Given the description of an element on the screen output the (x, y) to click on. 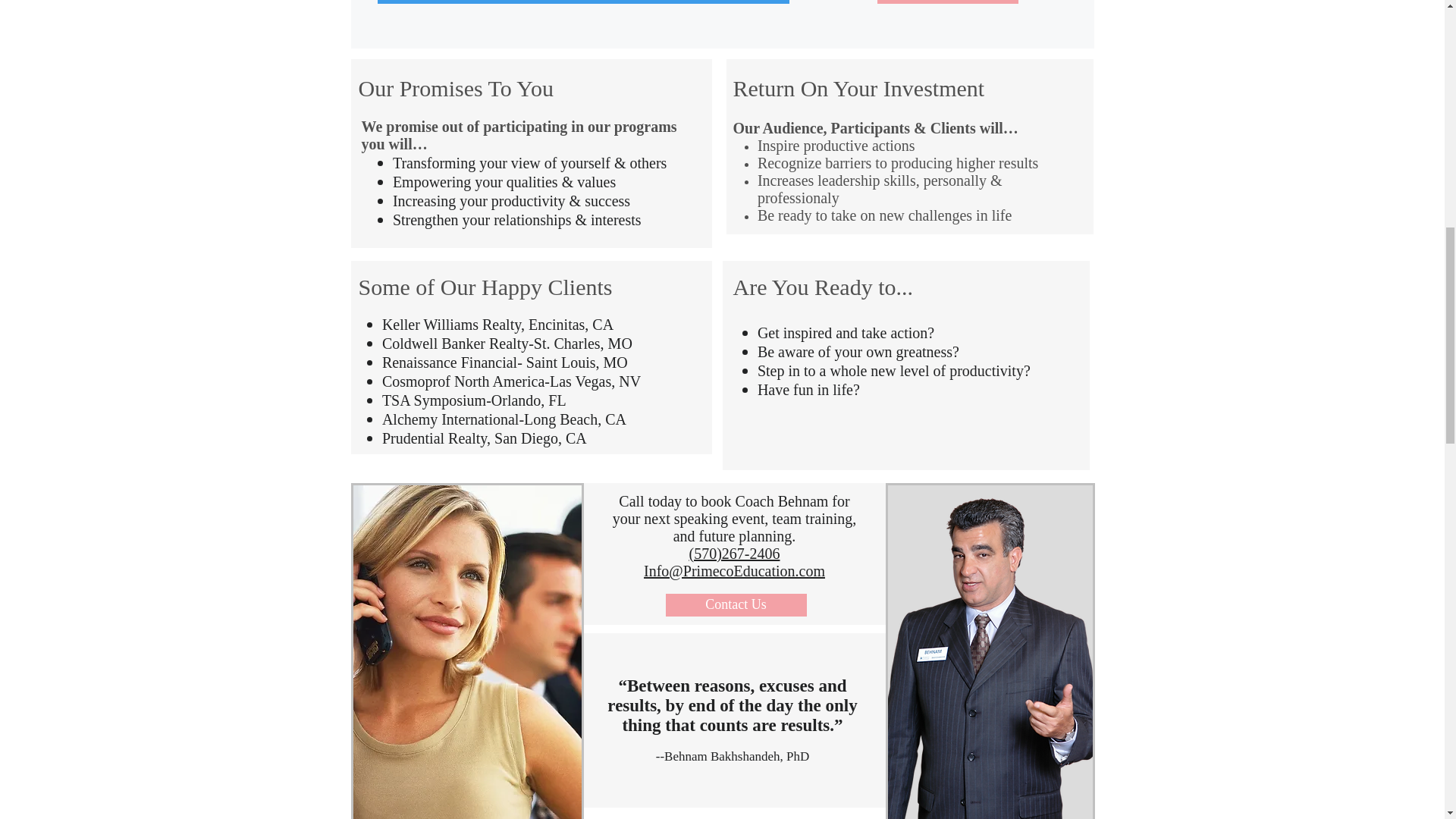
Contact Us (946, 2)
Keynote Speaking (466, 651)
Contact Us (735, 604)
Coach Behnam Delivering a Keynot Speaking (989, 651)
